Given the description of an element on the screen output the (x, y) to click on. 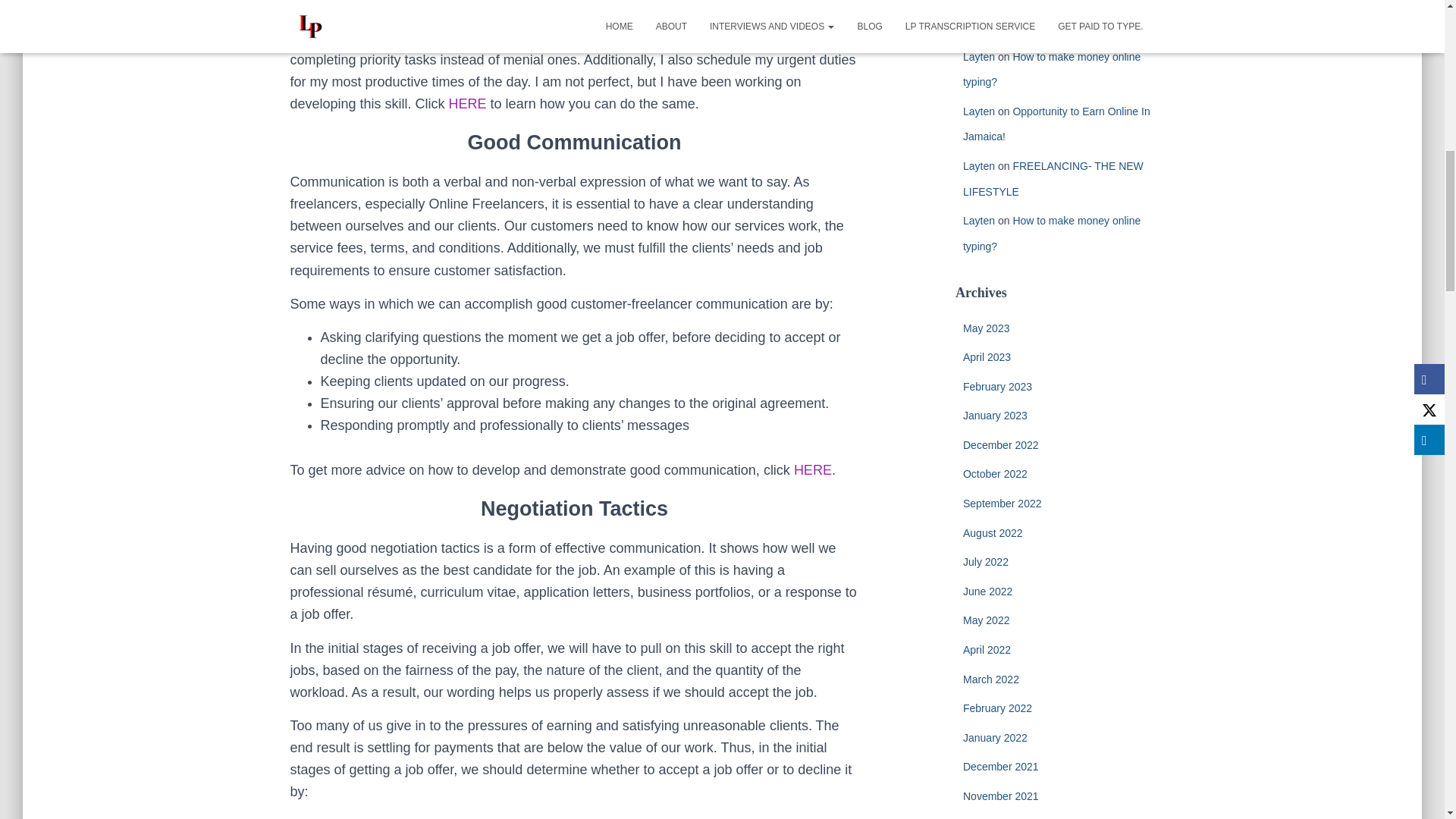
Layten (978, 3)
HERE (467, 103)
HERE (812, 469)
